Given the description of an element on the screen output the (x, y) to click on. 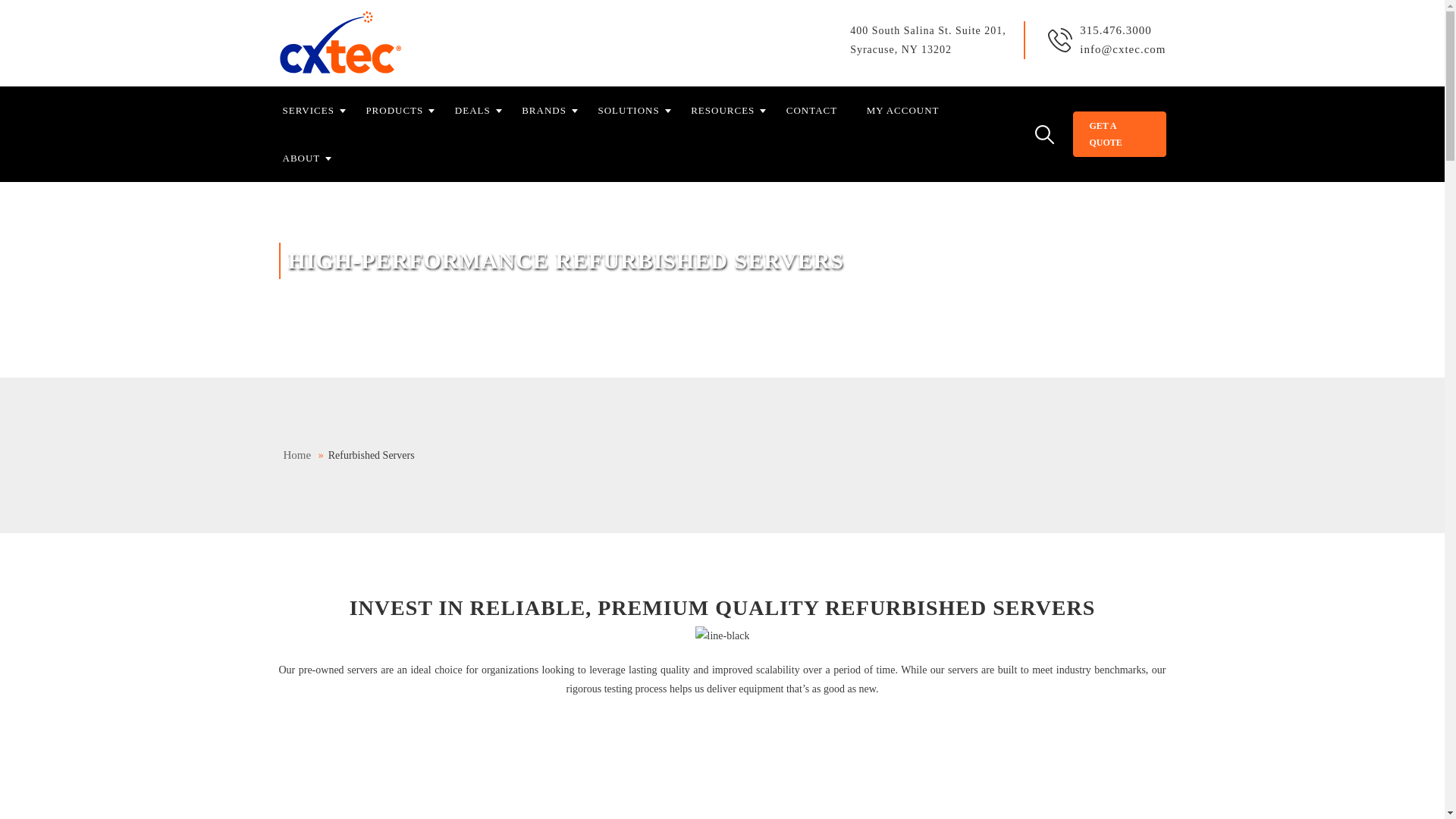
SERVICES (317, 110)
PRODUCTS (403, 110)
BRANDS (553, 110)
Cxtec Logo (341, 43)
315.476.3000 (1115, 30)
DEALS (482, 110)
